Given the description of an element on the screen output the (x, y) to click on. 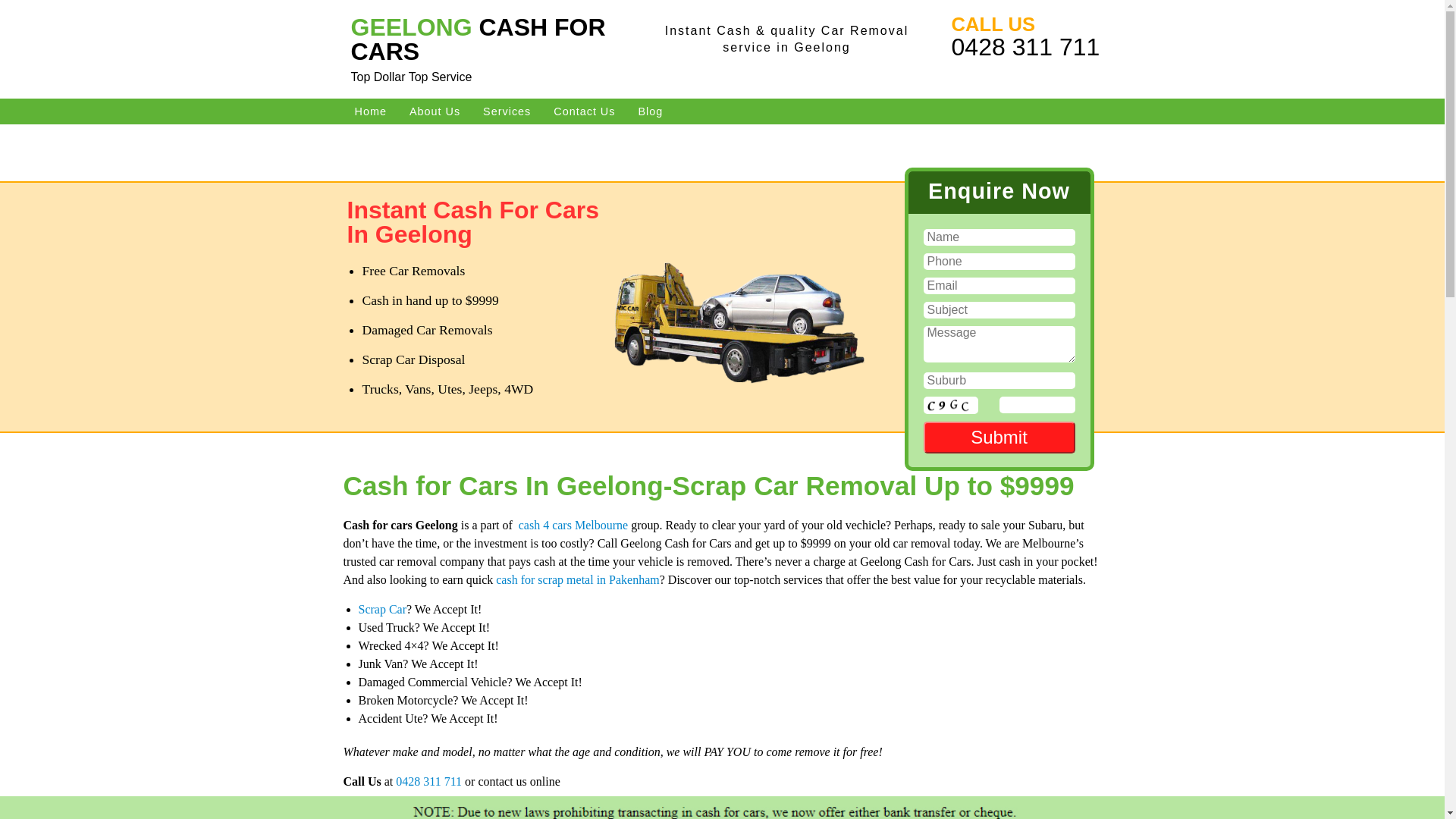
0428 311 711 Element type: text (1025, 46)
cash 4 cars Melbourne Element type: text (572, 524)
Free Car Removals Element type: hover (740, 290)
Blog Element type: text (650, 111)
Services Element type: text (506, 111)
cash for scrap metal in Pakenham Element type: text (576, 579)
About Us Element type: text (434, 111)
Contact Us Element type: text (584, 111)
Home Element type: text (369, 111)
Submit Element type: text (999, 437)
GEELONG CASH FOR CARS
Top Dollar Top Service Element type: text (494, 49)
0428 311 711 Element type: text (428, 781)
Scrap Car Element type: text (381, 608)
